Given the description of an element on the screen output the (x, y) to click on. 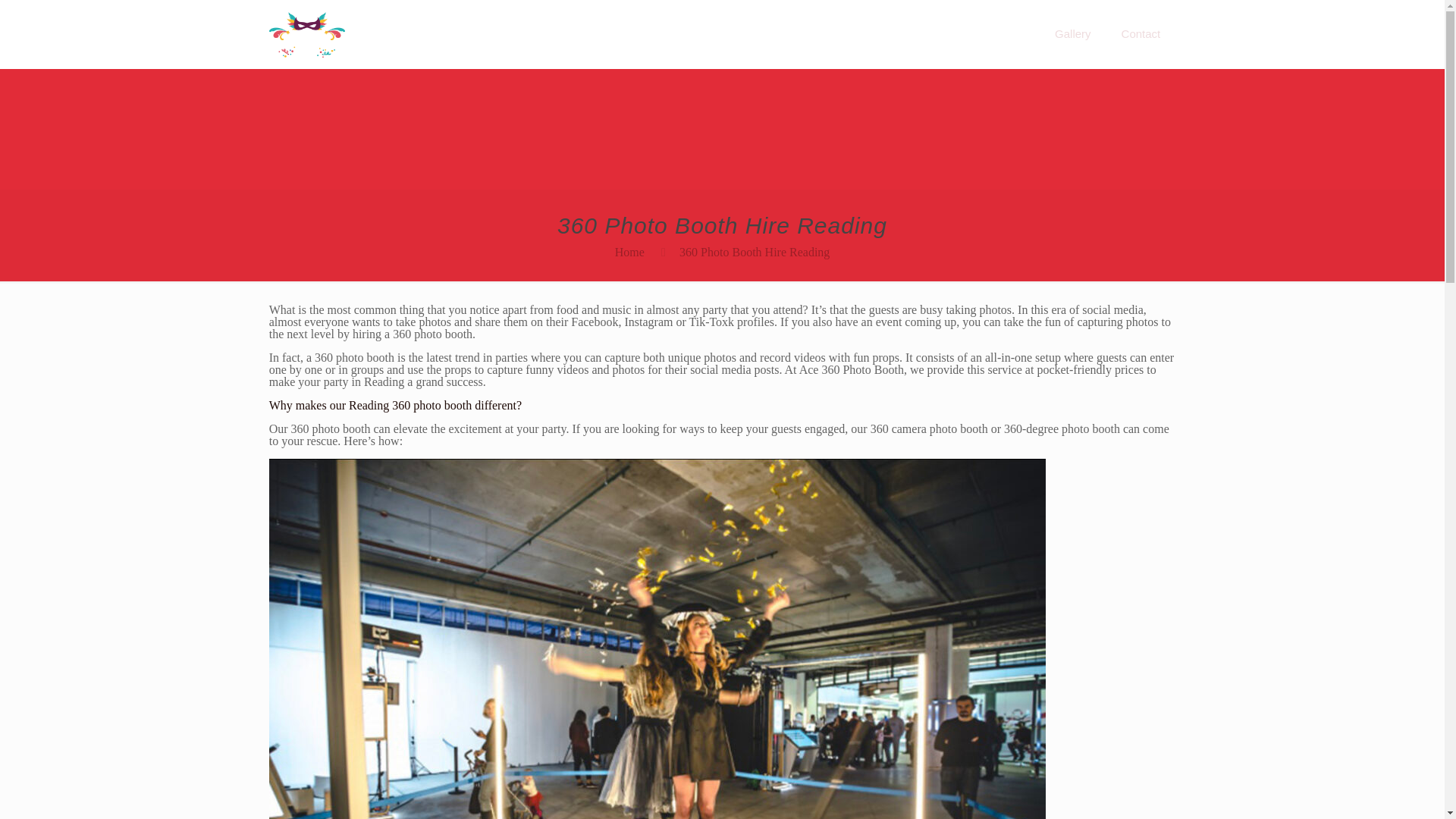
Gallery (1072, 33)
Ace 360 Photo booth (307, 33)
Home (629, 251)
Contact (1141, 33)
